Given the description of an element on the screen output the (x, y) to click on. 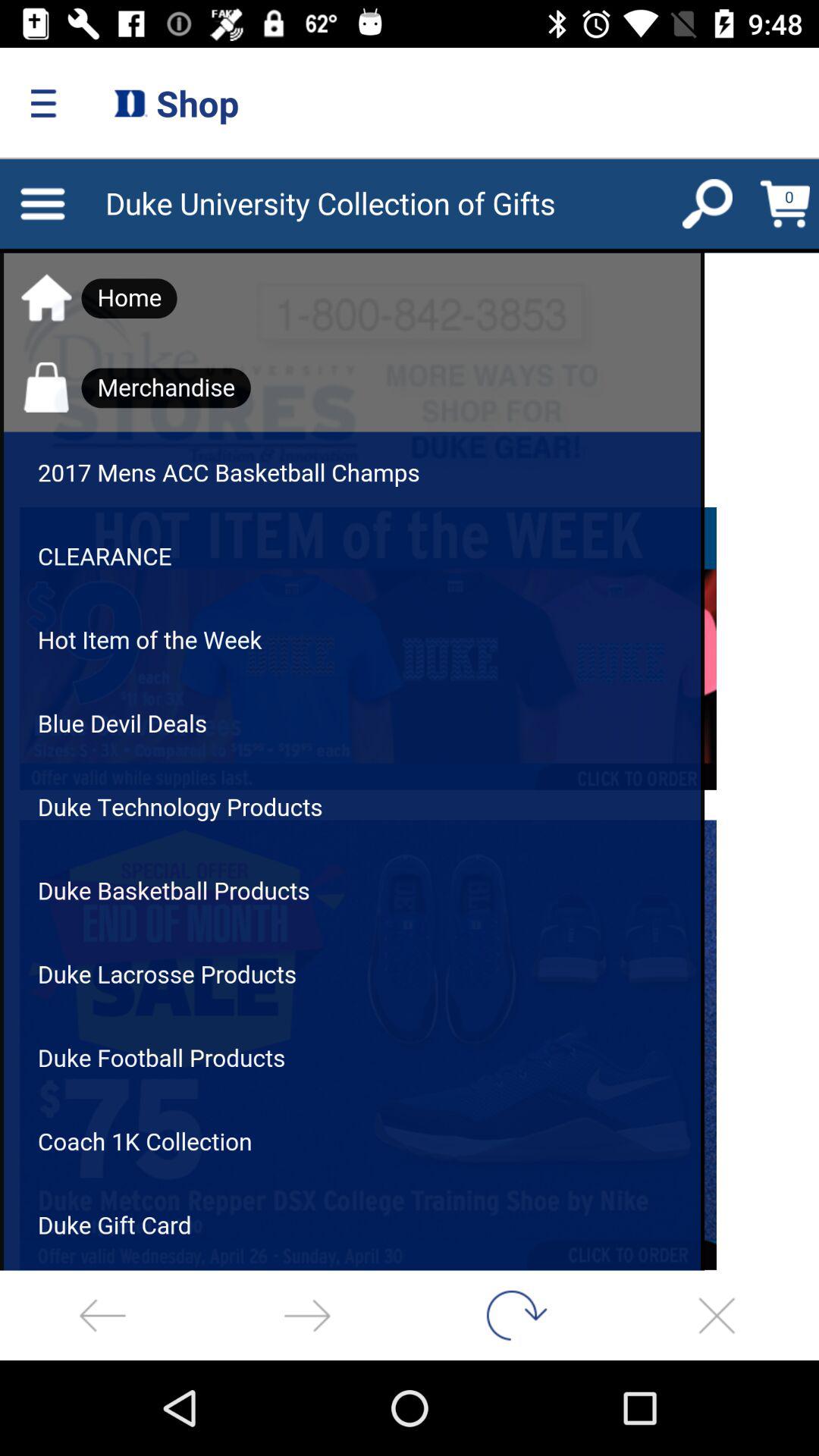
close (716, 1315)
